Given the description of an element on the screen output the (x, y) to click on. 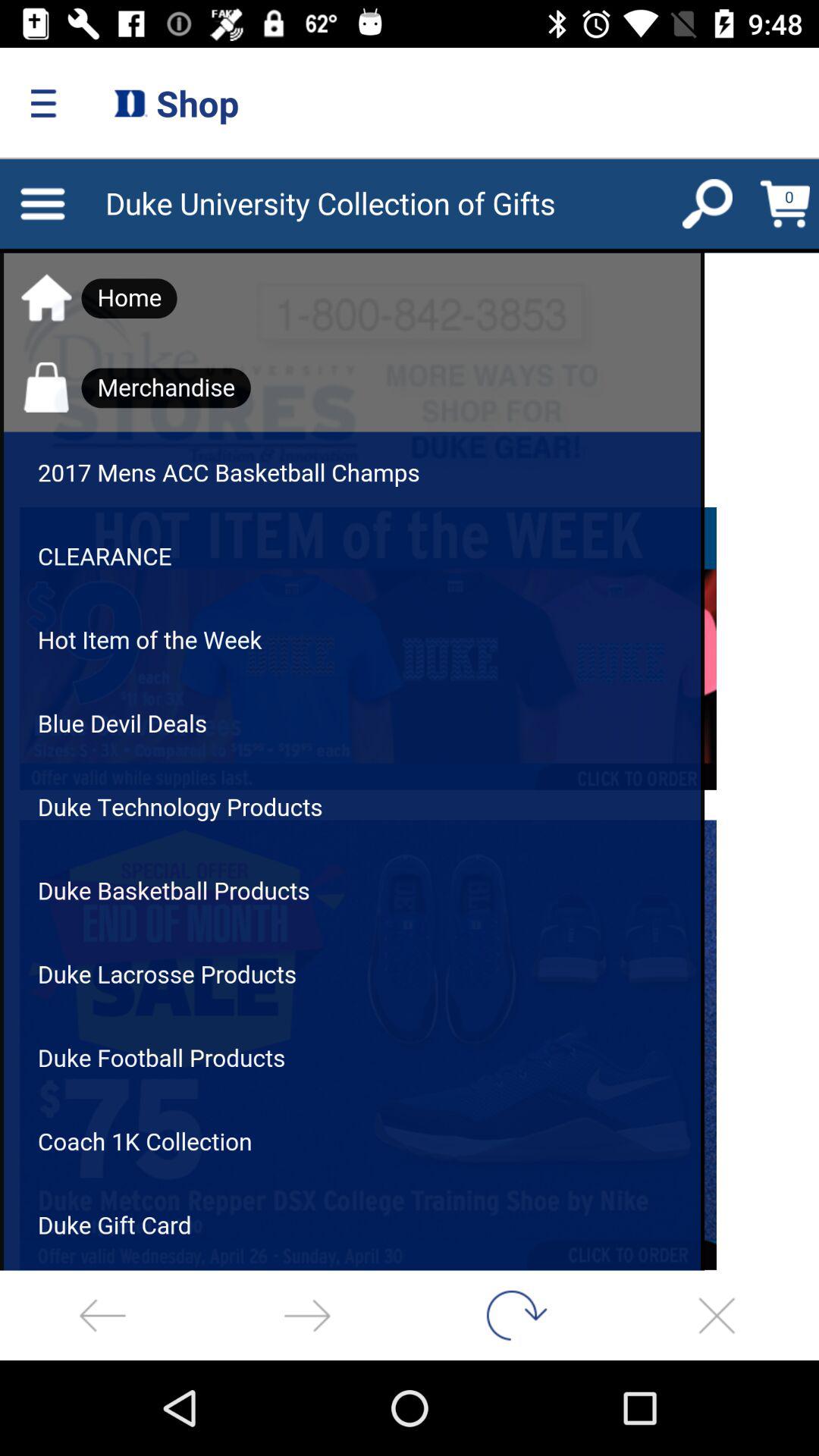
close (716, 1315)
